Given the description of an element on the screen output the (x, y) to click on. 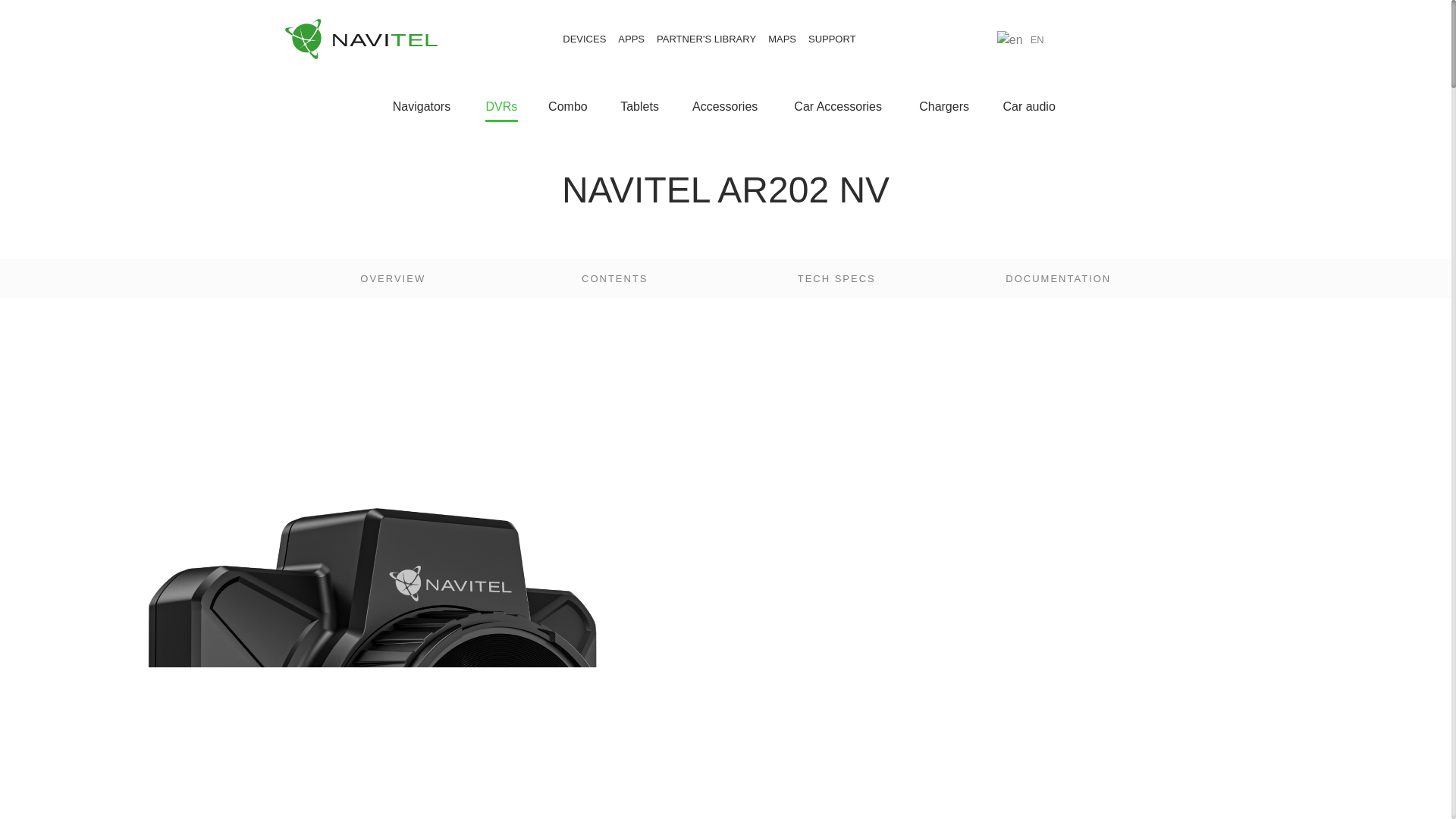
DVRs (501, 107)
OVERVIEW (392, 278)
Tablets (641, 107)
SUPPORT (832, 38)
Navigators (424, 107)
Accessories (727, 107)
TECH SPECS (835, 278)
APPS (631, 38)
DEVICES (583, 38)
Chargers (945, 107)
